Given the description of an element on the screen output the (x, y) to click on. 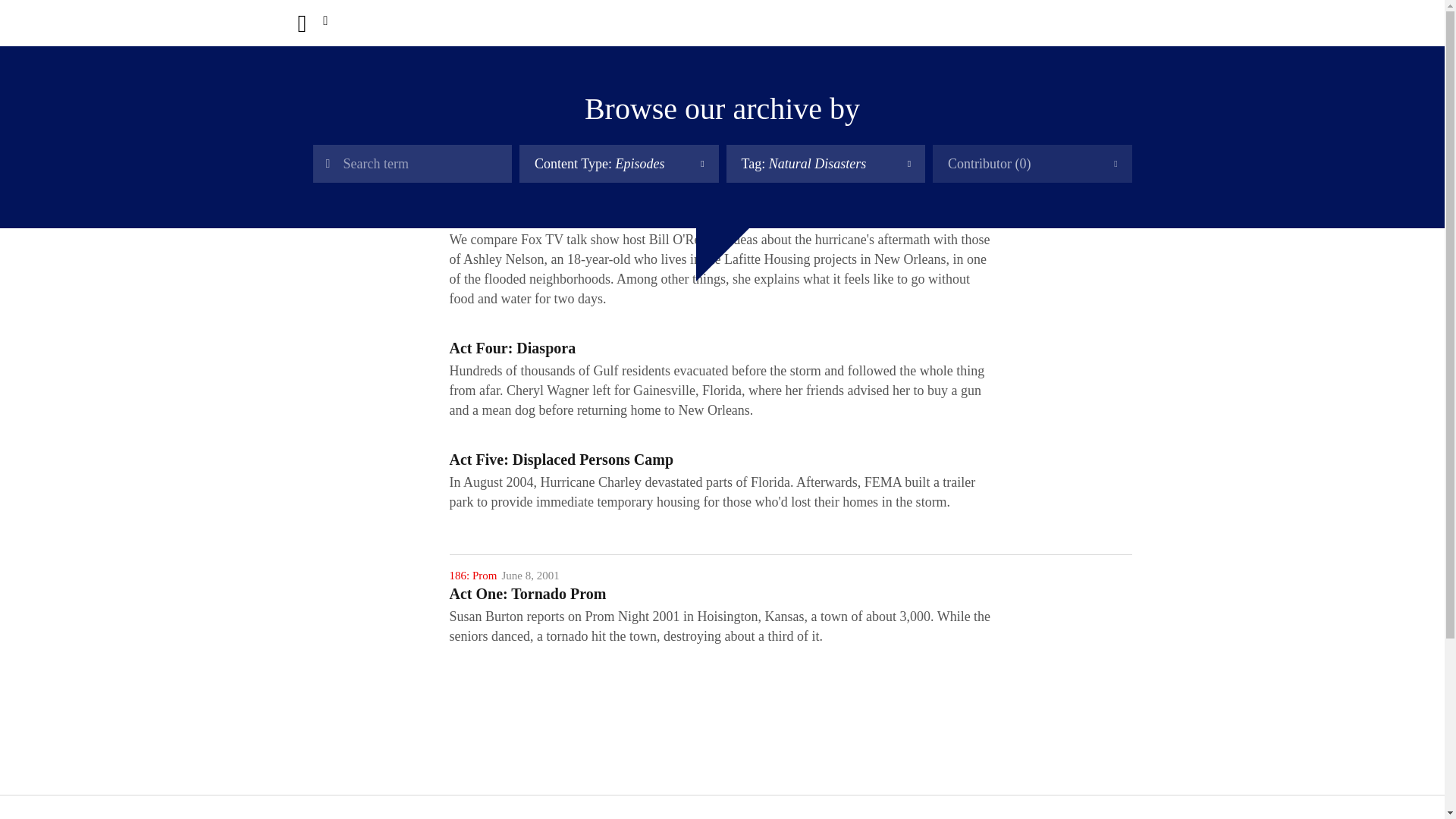
This American Life (312, 23)
